Given the description of an element on the screen output the (x, y) to click on. 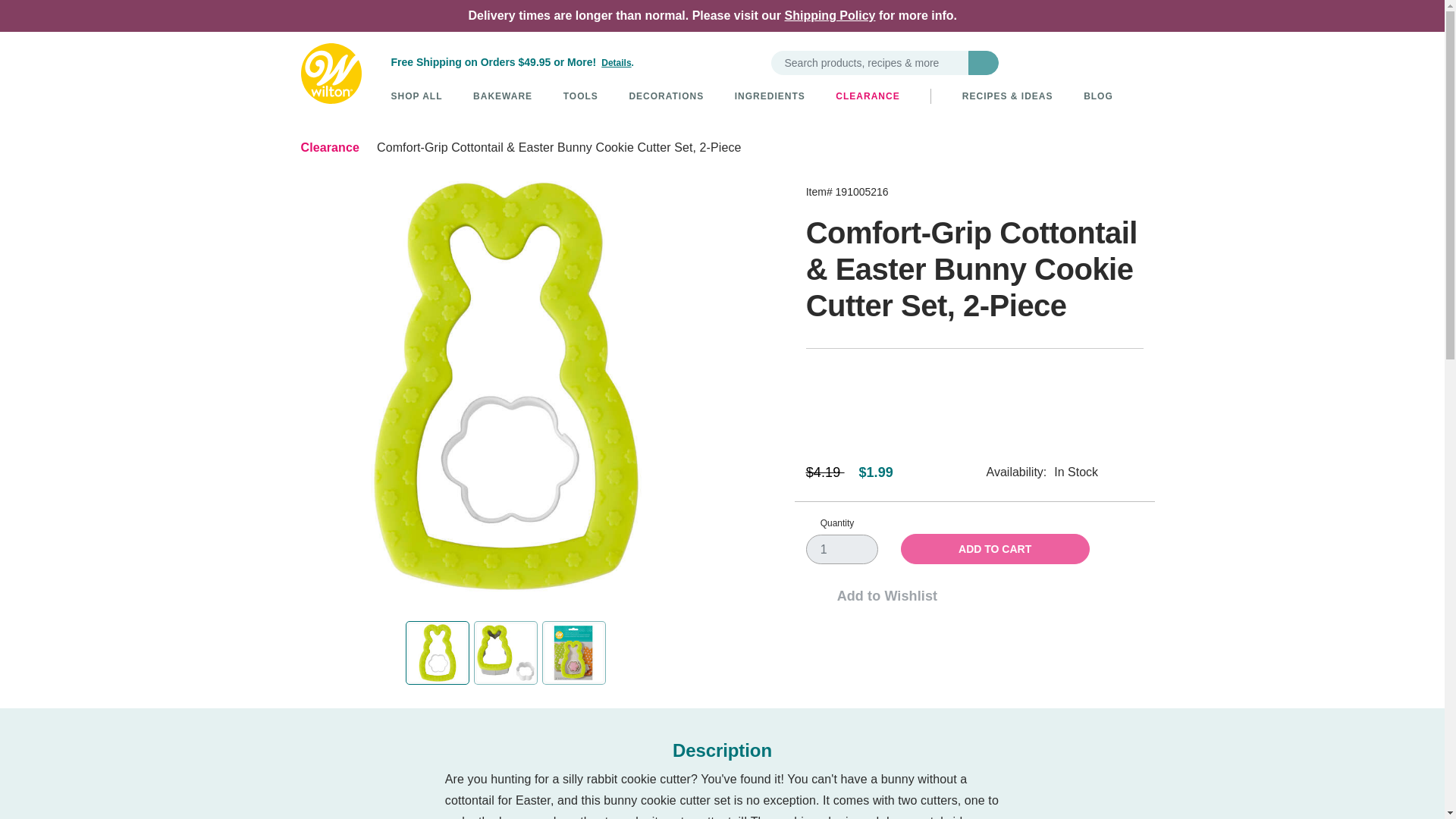
Clearance (328, 147)
SHOP ALL (416, 96)
Details. (617, 62)
0 items in cart (1132, 62)
Log in (1083, 62)
Log in (1083, 62)
View Cart (1132, 62)
TOOLS (580, 96)
Email (1128, 596)
